Given the description of an element on the screen output the (x, y) to click on. 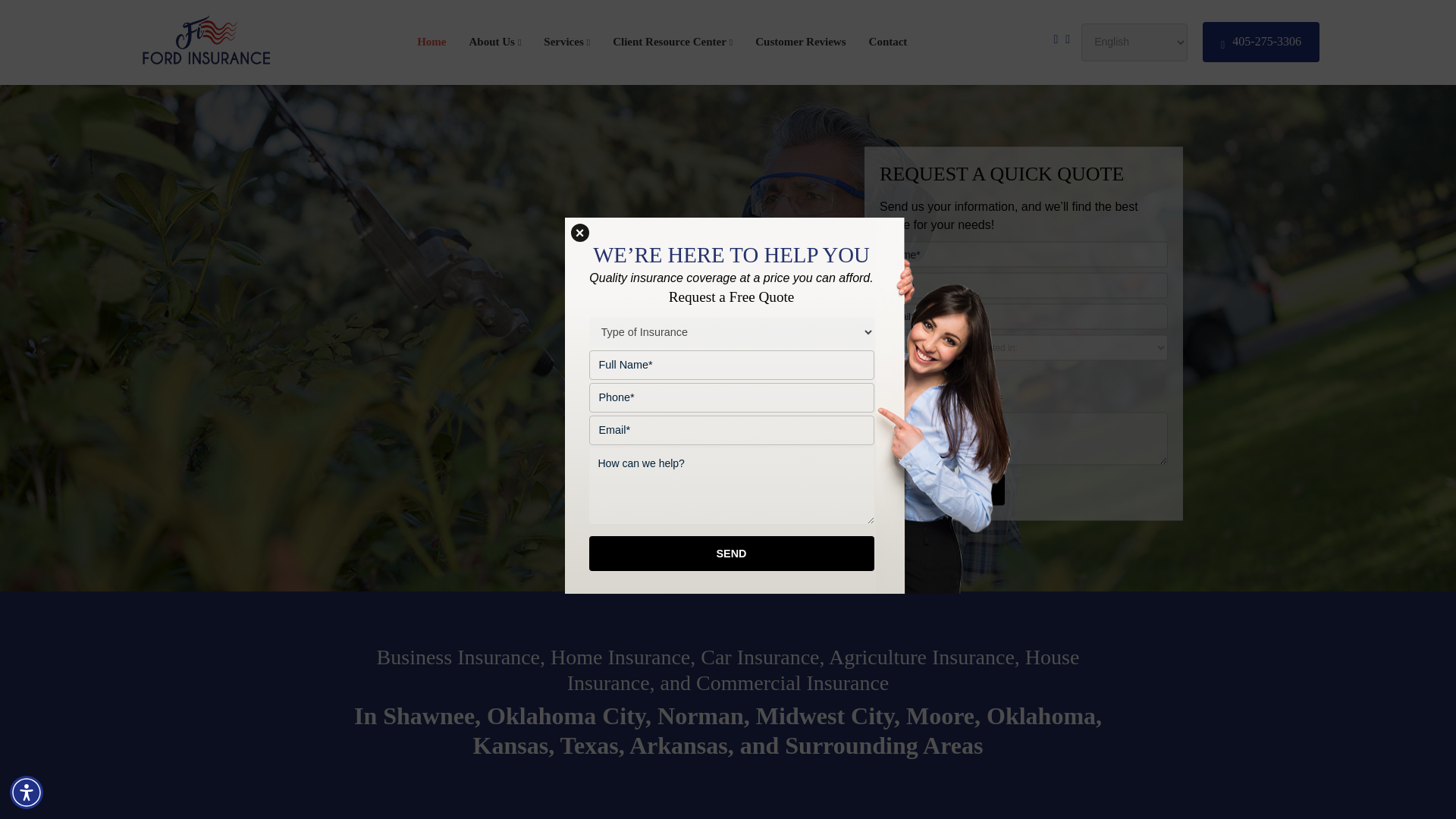
Home (430, 42)
Client Resource Center (672, 42)
405-275-3306 (1260, 42)
Contact (888, 42)
Customer Reviews (800, 42)
About Us (494, 42)
Send (941, 489)
Accessibility Menu (26, 792)
Send (730, 553)
Send (941, 489)
Services (566, 42)
